Given the description of an element on the screen output the (x, y) to click on. 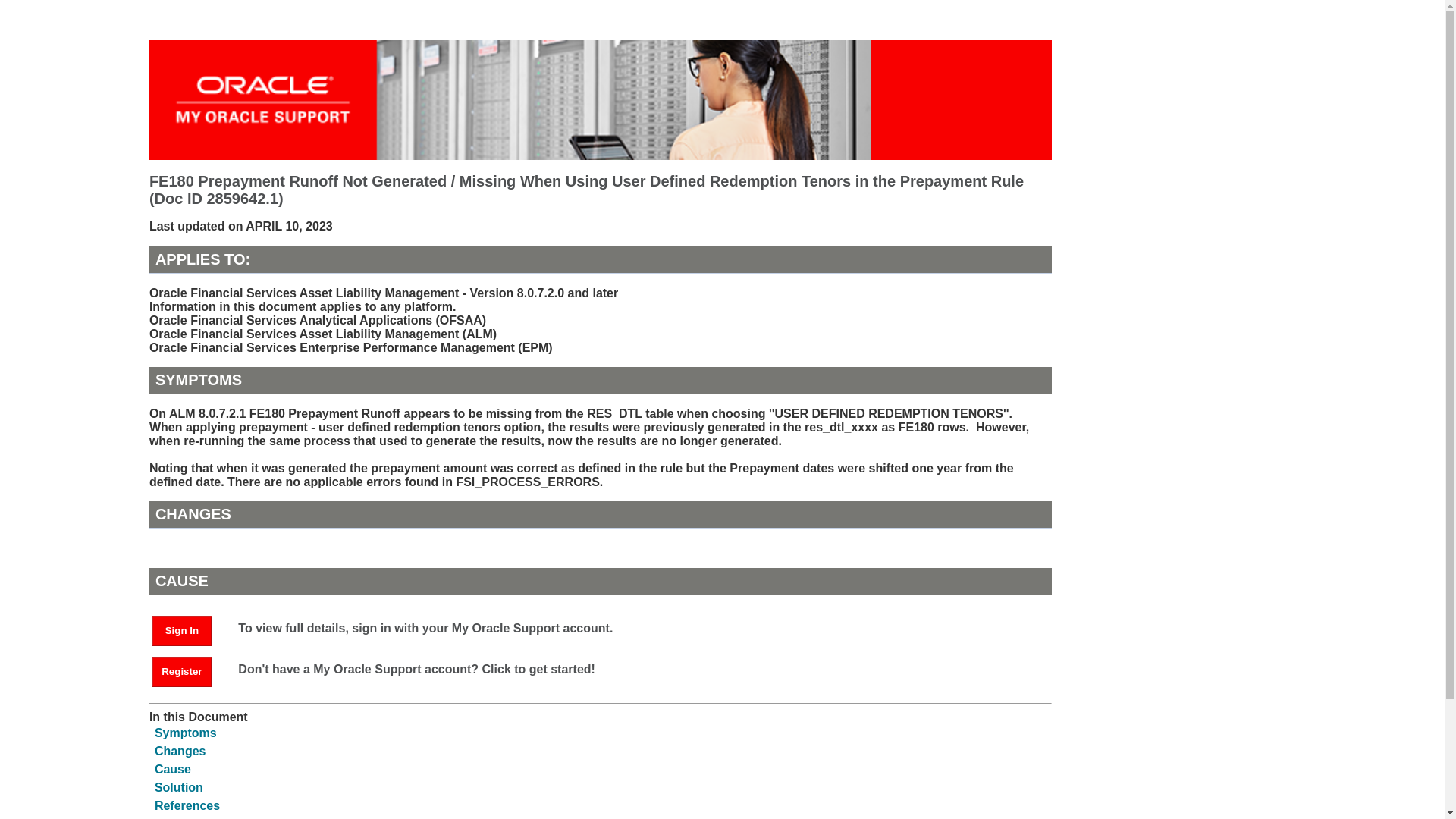
Register (181, 671)
Symptoms (185, 732)
Sign In (181, 630)
Solution (178, 787)
References (186, 805)
Sign In (189, 629)
Register (189, 670)
Changes (180, 750)
Cause (172, 768)
